Given the description of an element on the screen output the (x, y) to click on. 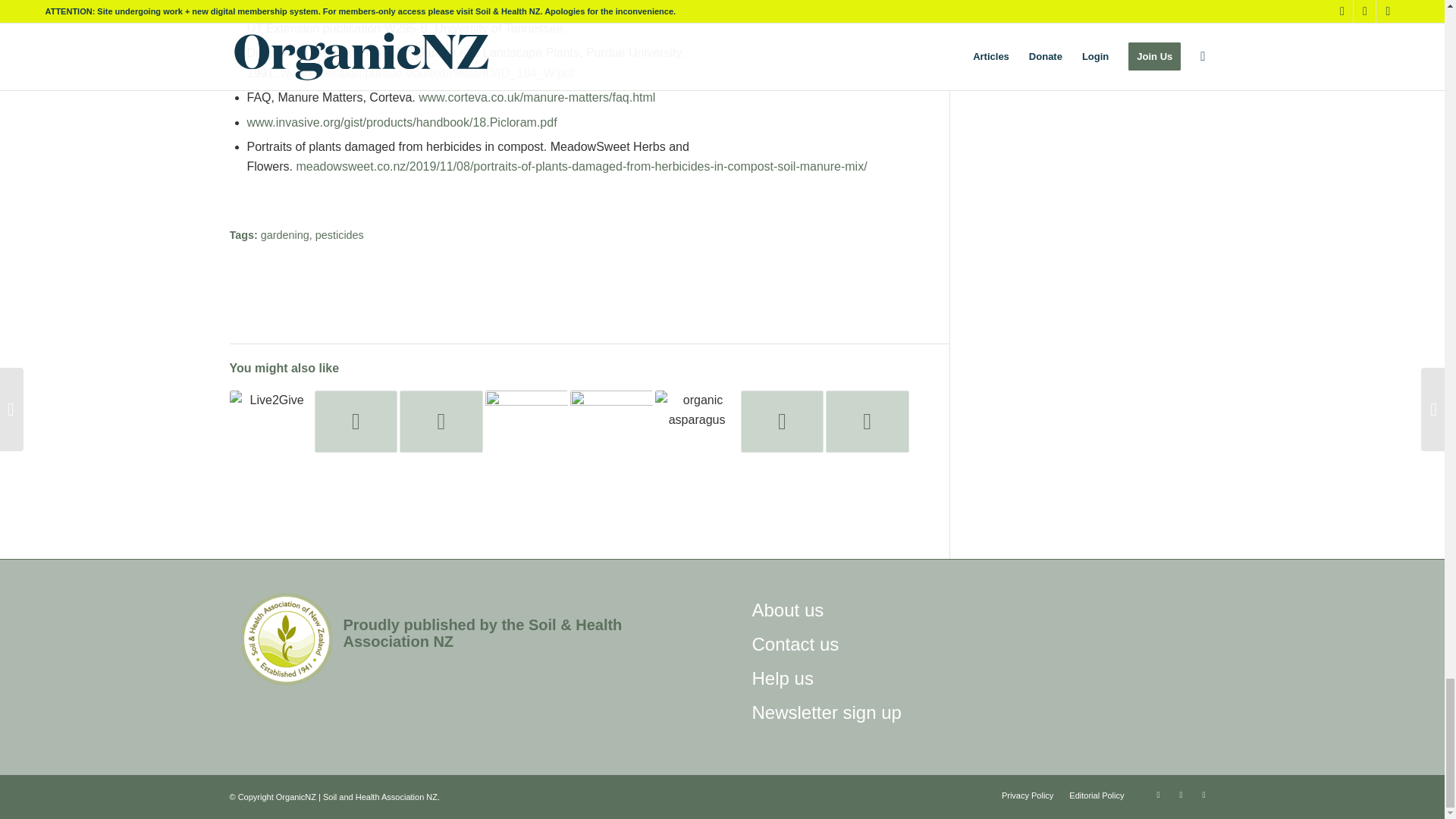
gardening (284, 234)
Get ready for spring: seasonal gardening tips and tasks (525, 421)
pesticides (339, 234)
Japanese wineberry: where and how to grow (355, 421)
